Given the description of an element on the screen output the (x, y) to click on. 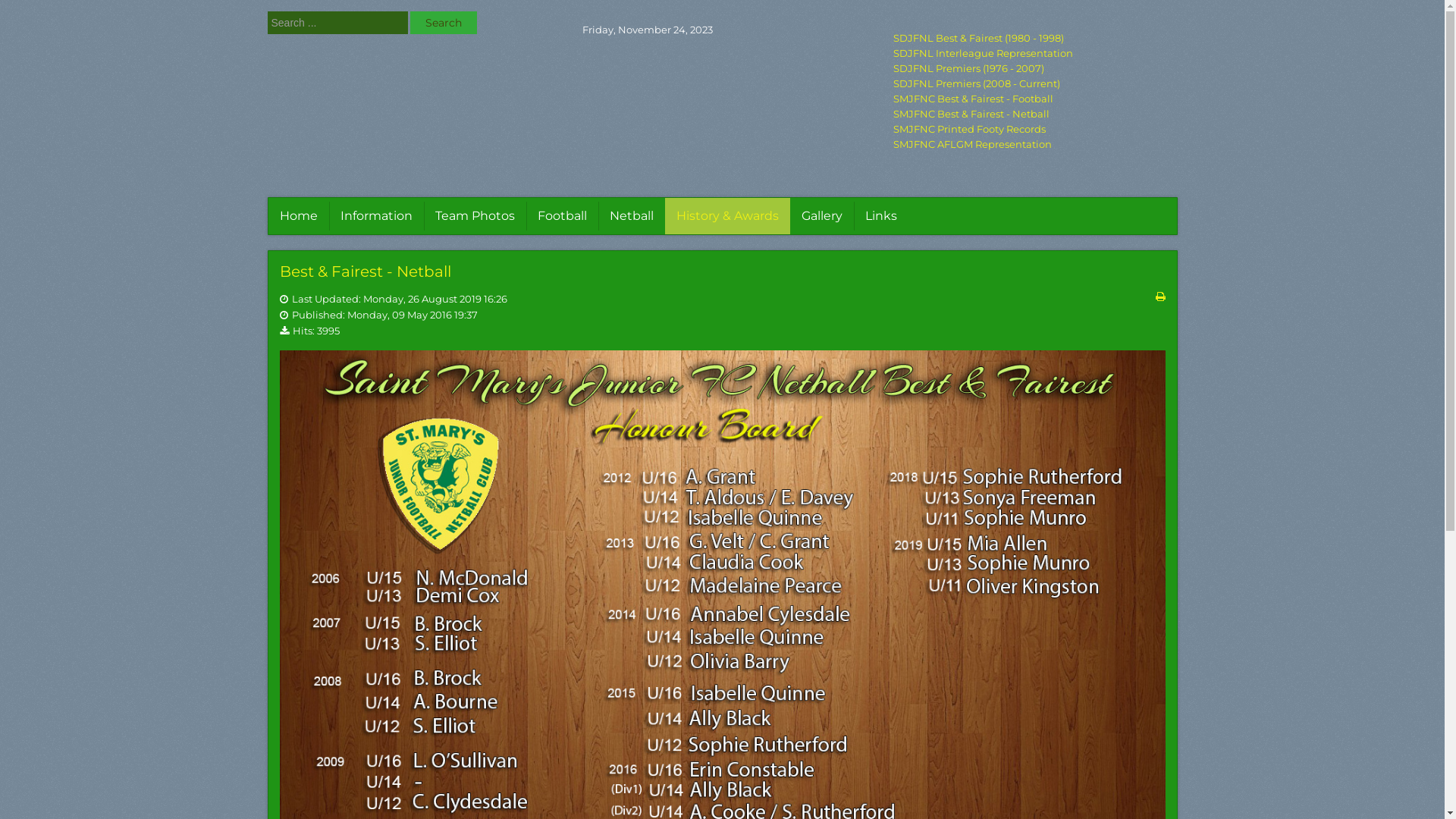
Home Element type: text (297, 215)
Search Element type: text (442, 22)
SMJFNC Best & Fairest - Netball Element type: text (1025, 113)
SDJFNL Interleague Representation Element type: text (1025, 52)
Gallery Element type: text (820, 215)
SMJFNC AFLGM Representation Element type: text (1025, 143)
SMJFNC Best & Fairest - Football Element type: text (1025, 98)
Football Element type: text (561, 215)
Print article < Best & Fairest - Netball > Element type: hover (1160, 296)
SMJFNC Printed Footy Records Element type: text (1025, 128)
Information Element type: text (375, 215)
Best & Fairest - Netball Element type: text (364, 271)
Team Photos Element type: text (474, 215)
Links Element type: text (880, 215)
Netball Element type: text (631, 215)
SDJFNL Premiers (1976 - 2007) Element type: text (1025, 67)
SDJFNL Best & Fairest (1980 - 1998) Element type: text (1025, 37)
SDJFNL Premiers (2008 - Current) Element type: text (1025, 83)
History & Awards Element type: text (727, 215)
